Given the description of an element on the screen output the (x, y) to click on. 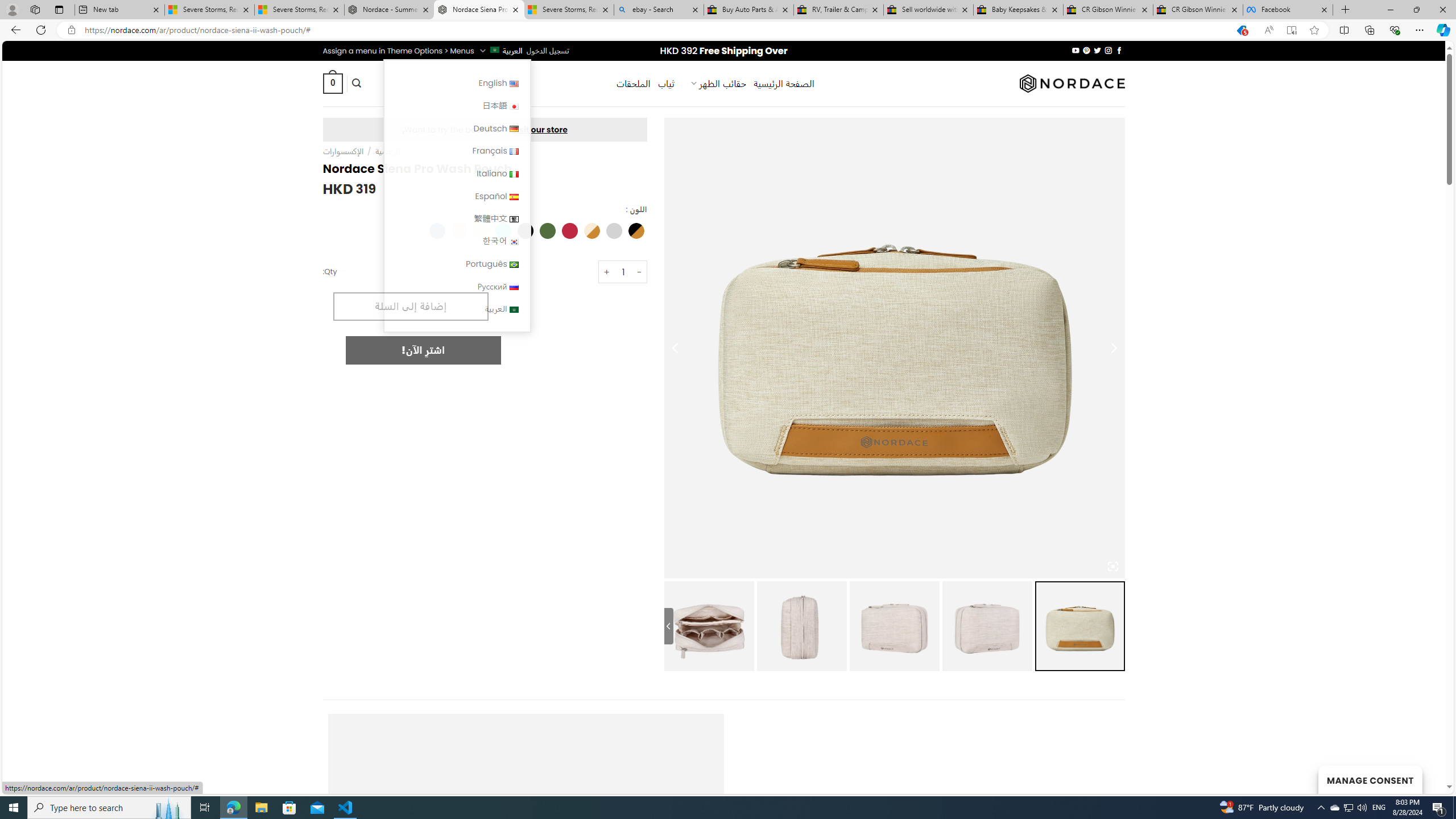
Address and search bar (653, 29)
Visit our store. (484, 129)
Refresh (40, 29)
Class: iconic-woothumbs-fullscreen (1113, 566)
ebay - Search (658, 9)
You have the best price! (1241, 29)
English  (456, 83)
Follow on YouTube (1074, 50)
RV, Trailer & Camper Steps & Ladders for sale | eBay (838, 9)
English (513, 83)
